Given the description of an element on the screen output the (x, y) to click on. 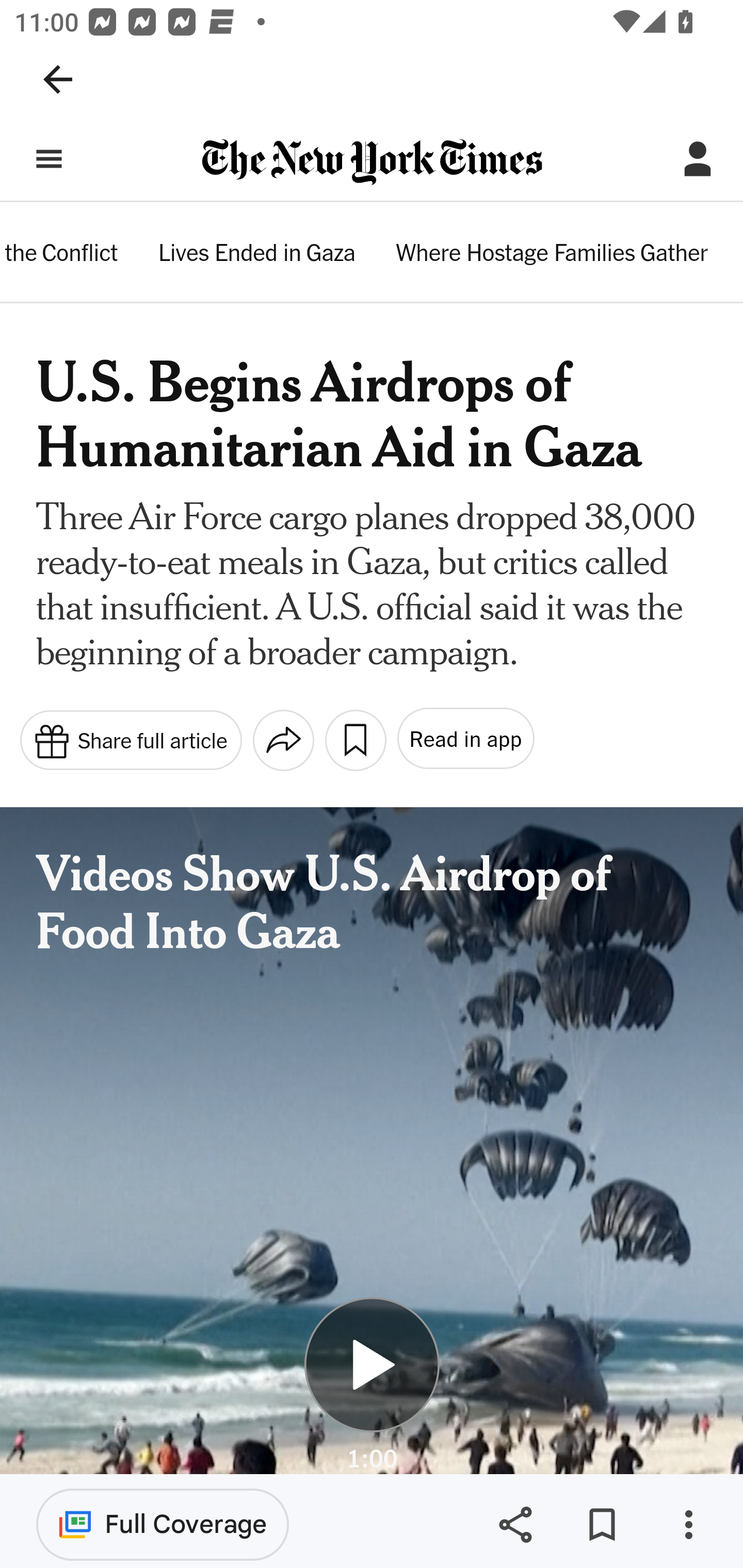
Navigate up (57, 79)
SEARCH & SECTION NAVIGATION (48, 159)
Log in (697, 159)
New York Times homepage (371, 162)
Roots of the Conflict (59, 254)
Lives Ended in Gaza (256, 254)
Where Hostage Families Gather (552, 254)
More sharing options ... (283, 740)
Save article for reading later... (355, 740)
Read in app (464, 738)
Share full article (129, 738)
Share (514, 1524)
Save for later (601, 1524)
More options (688, 1524)
Full Coverage (162, 1524)
